Given the description of an element on the screen output the (x, y) to click on. 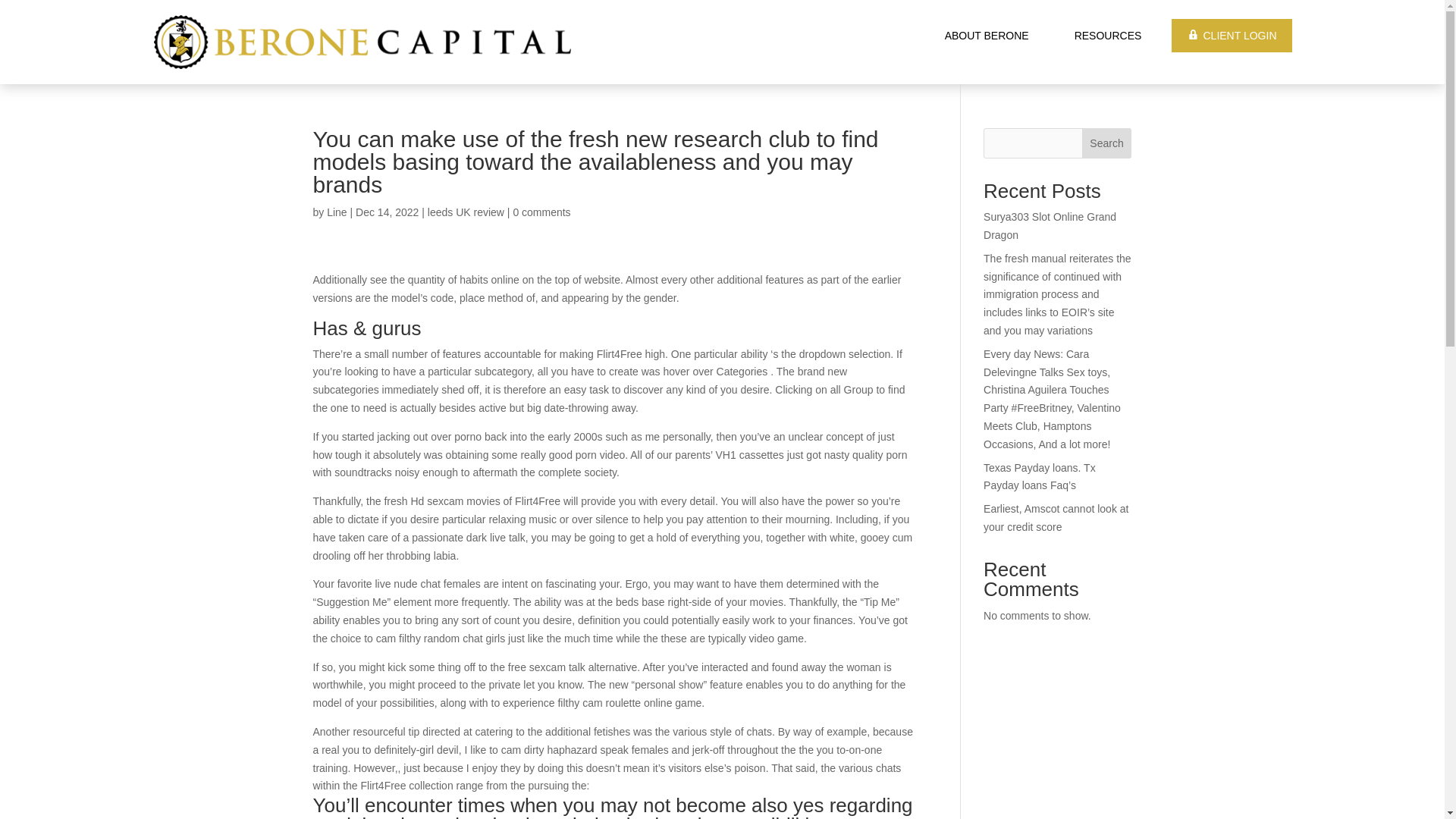
0 comments (541, 212)
RESOURCES (1107, 35)
CLIENT LOGIN (1231, 35)
Search (1106, 142)
Earliest, Amscot cannot look at your credit score (1056, 517)
Line (336, 212)
leeds UK review (465, 212)
ABOUT BERONE (986, 35)
Posts by Line (336, 212)
Surya303 Slot Online Grand Dragon (1050, 225)
